Given the description of an element on the screen output the (x, y) to click on. 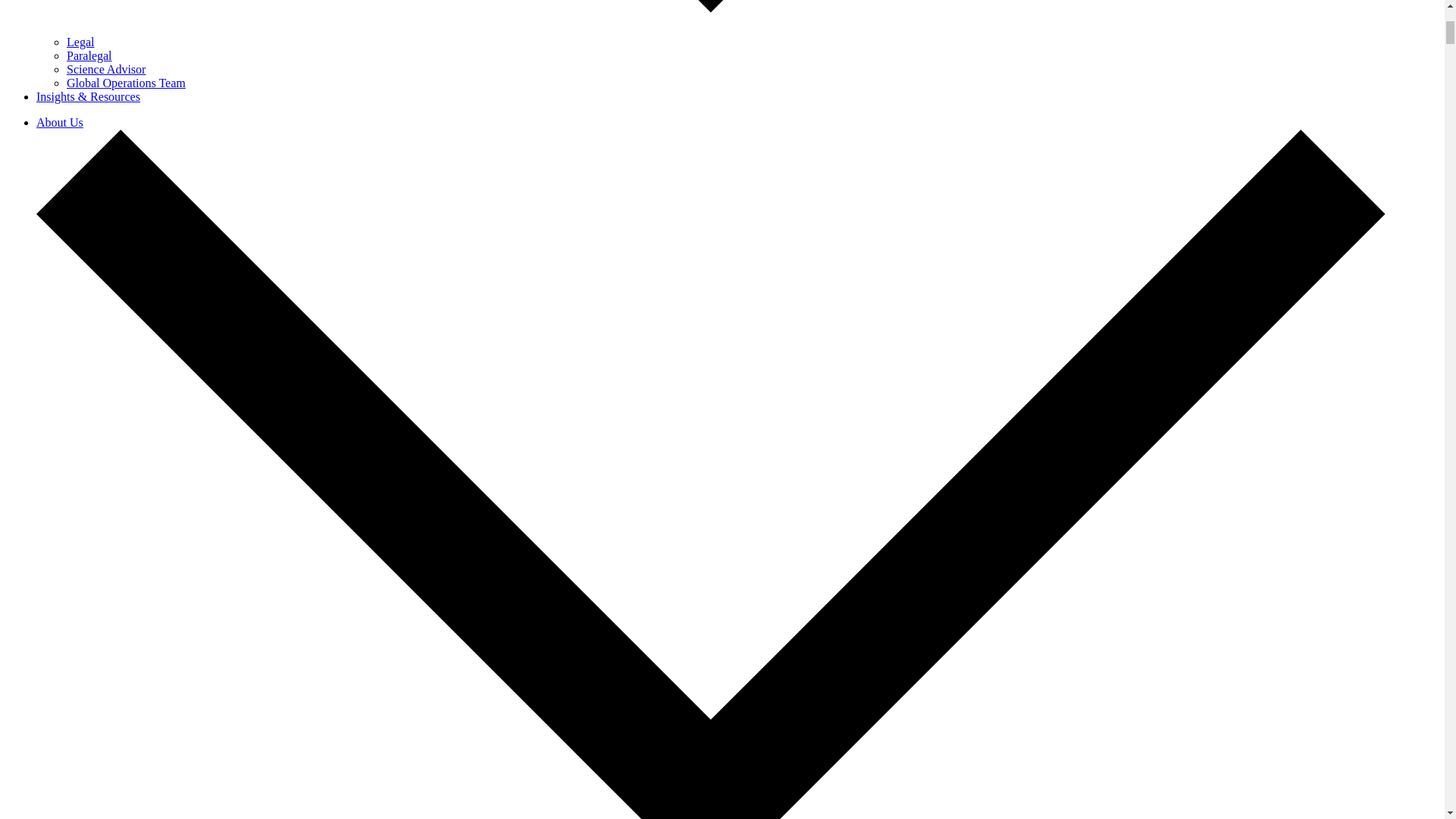
Legal (80, 42)
Global Operations Team (126, 82)
Science Advisor (105, 69)
Paralegal (89, 55)
